Given the description of an element on the screen output the (x, y) to click on. 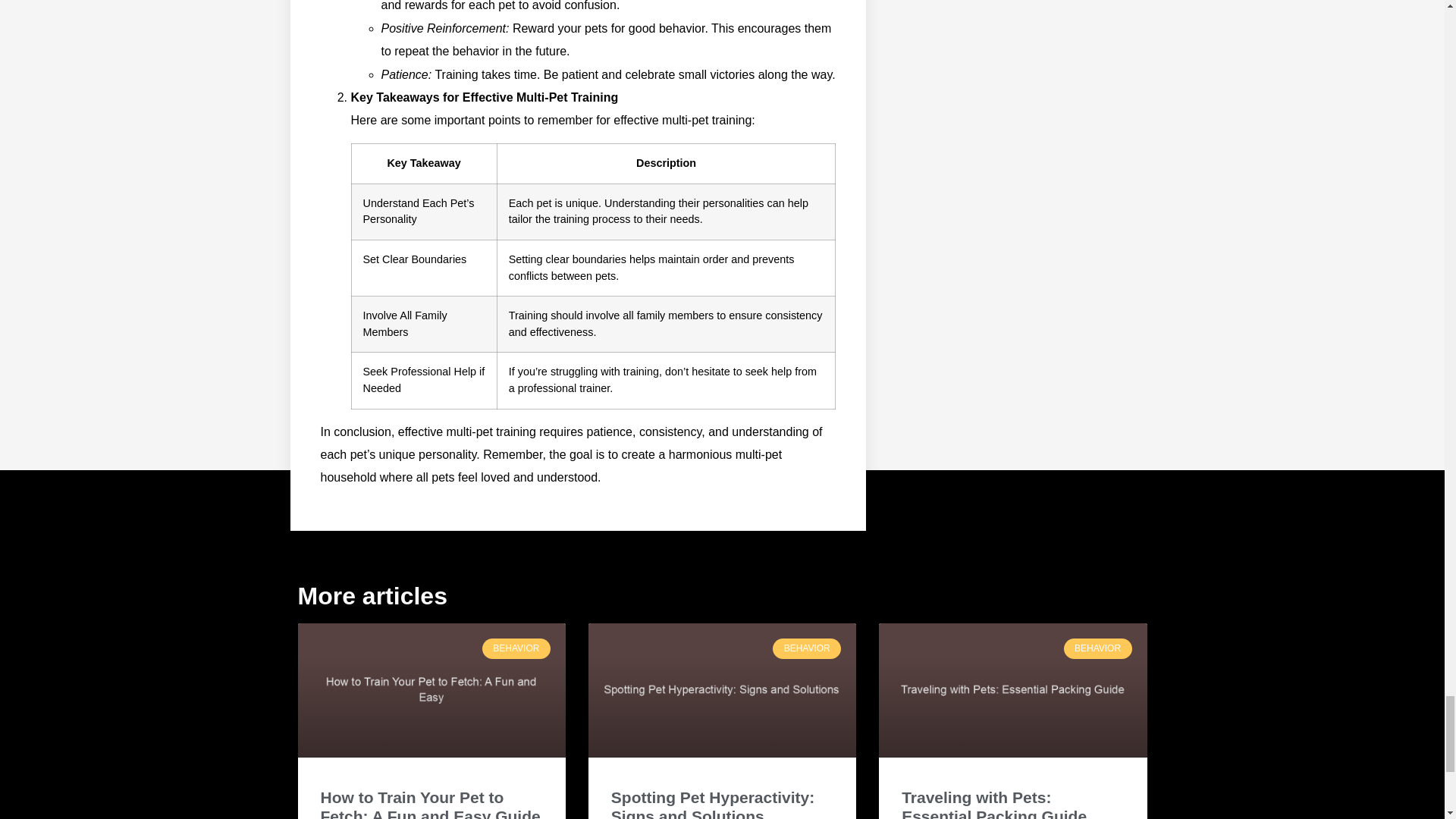
Spotting Pet Hyperactivity: Signs and Solutions (712, 803)
Traveling with Pets: Essential Packing Guide (993, 803)
How to Train Your Pet to Fetch: A Fun and Easy Guide (430, 803)
